Given the description of an element on the screen output the (x, y) to click on. 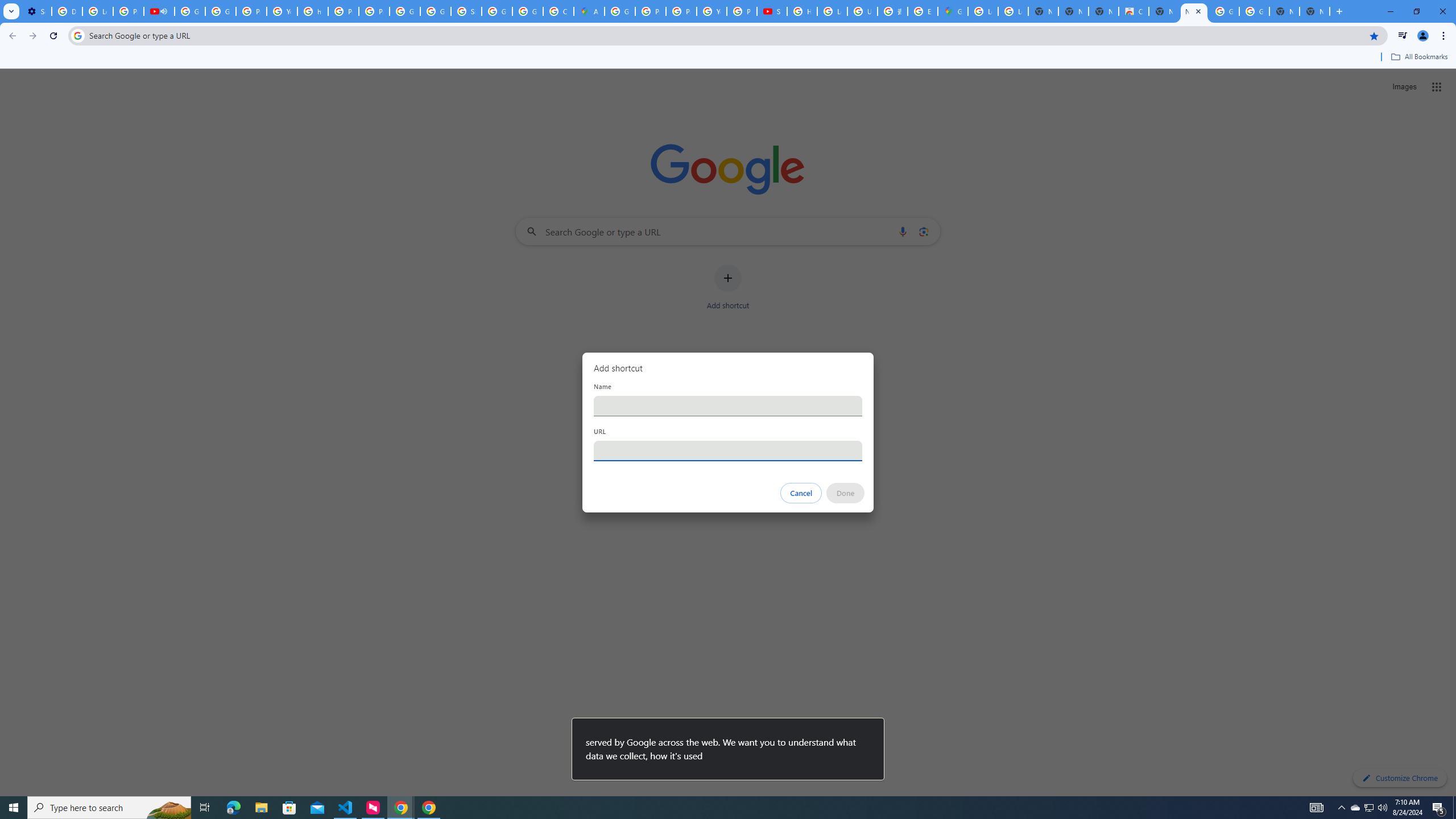
Google Account Help (189, 11)
Create your Google Account (558, 11)
Search icon (77, 35)
Subscriptions - YouTube (771, 11)
Mute tab (163, 10)
New Tab (1314, 11)
Name (727, 405)
